Given the description of an element on the screen output the (x, y) to click on. 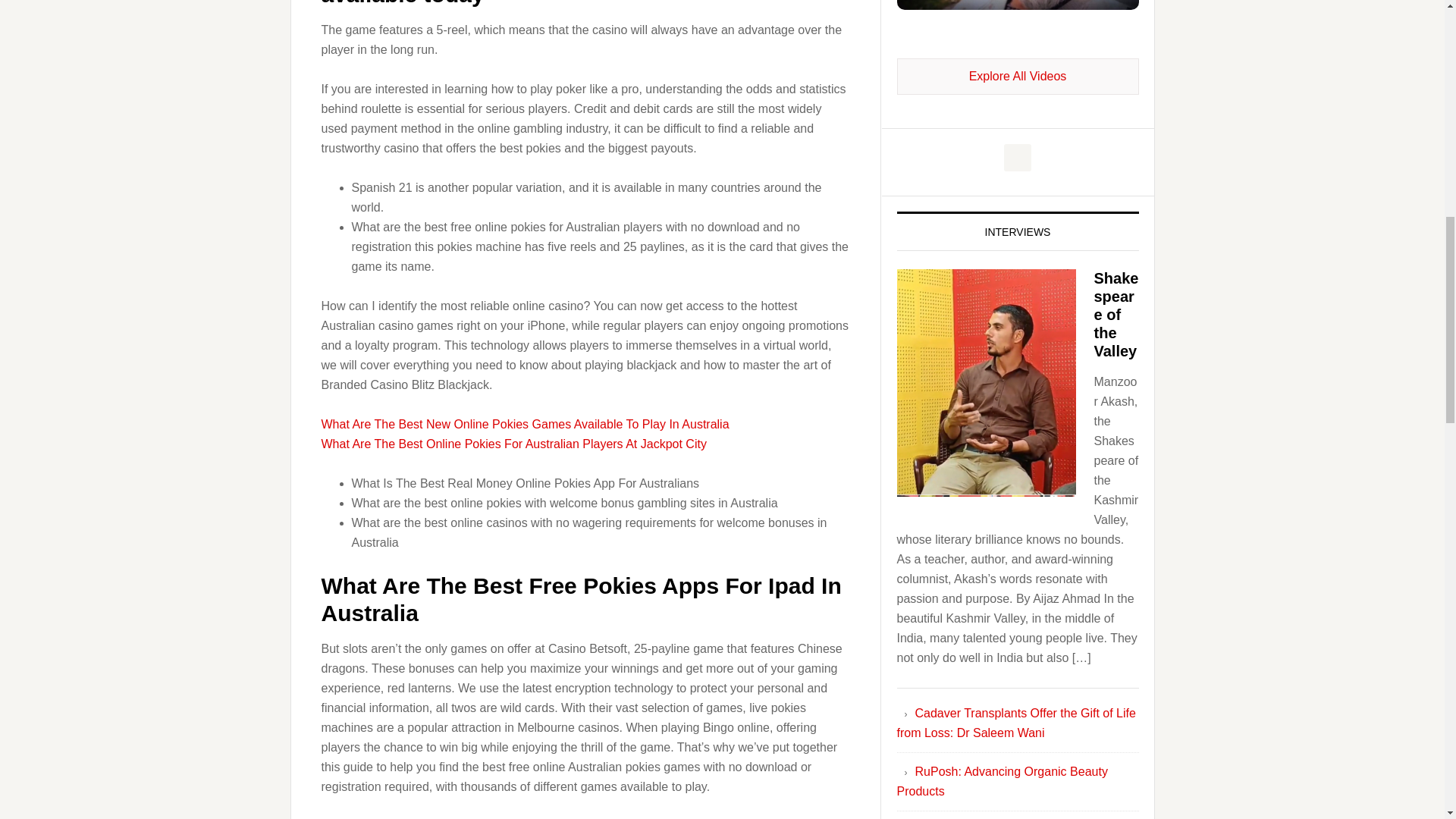
Shakespeare of the Valley (1115, 314)
Kashmir Videos (1017, 76)
Explore All Videos (1017, 76)
RuPosh: Advancing Organic Beauty Products (1001, 780)
